Given the description of an element on the screen output the (x, y) to click on. 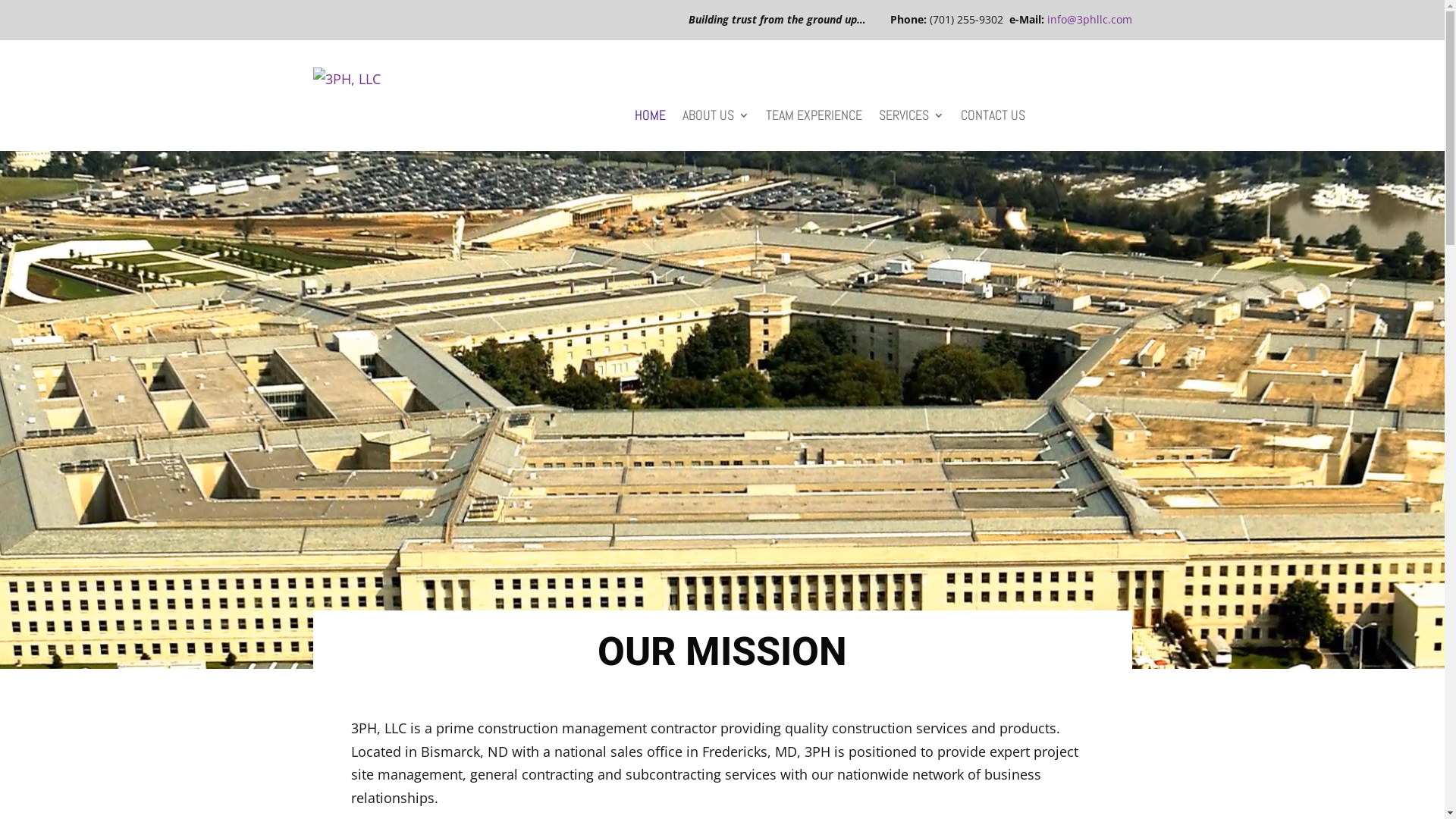
TEAM EXPERIENCE Element type: text (813, 117)
ABOUT US Element type: text (715, 117)
1 Element type: text (709, 632)
HOME Element type: text (649, 117)
2 Element type: text (721, 632)
SERVICES Element type: text (911, 117)
3 Element type: text (734, 632)
CONTACT US Element type: text (992, 117)
info@3phllc.com Element type: text (1088, 19)
